Given the description of an element on the screen output the (x, y) to click on. 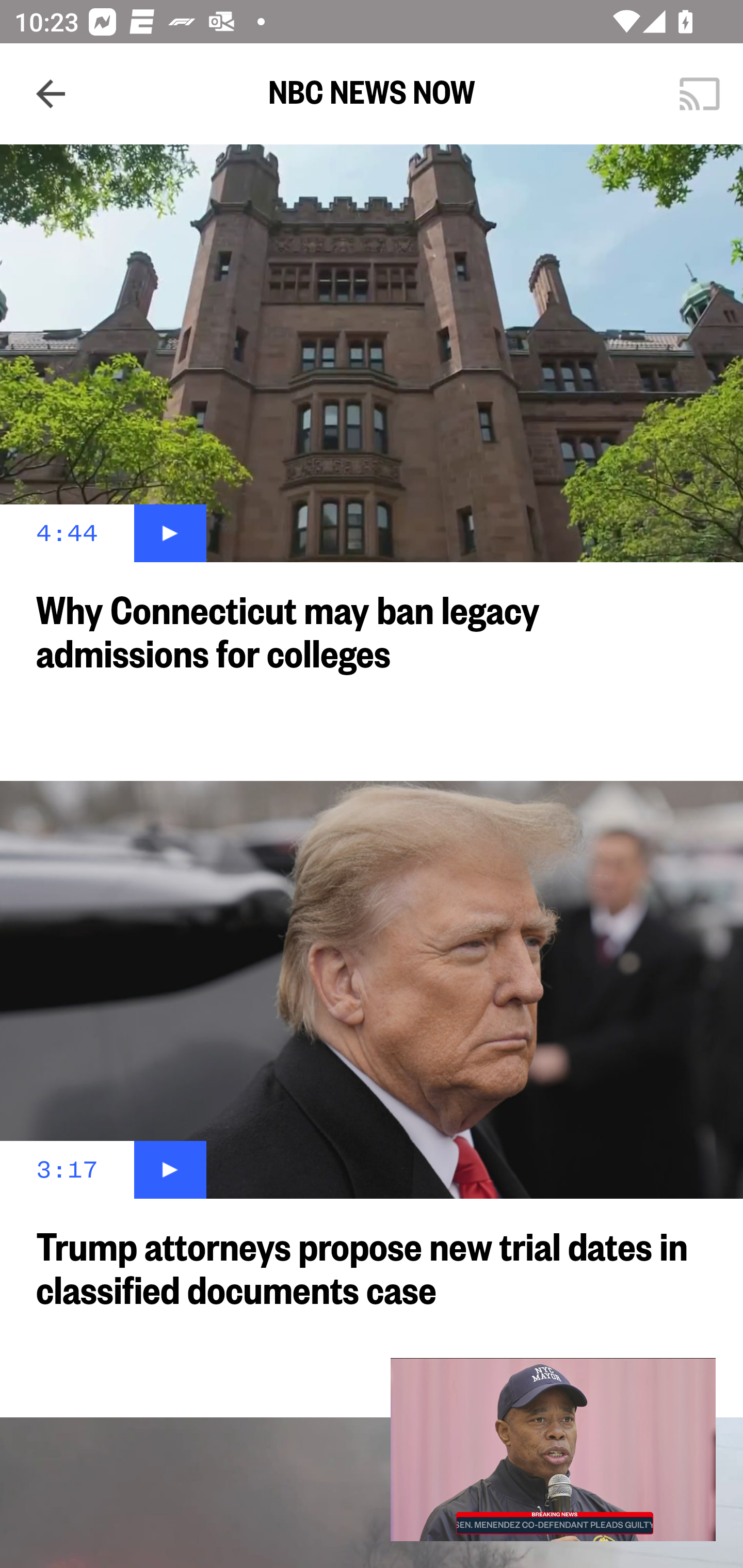
Navigate up (50, 93)
Cast. Disconnected (699, 93)
